Given the description of an element on the screen output the (x, y) to click on. 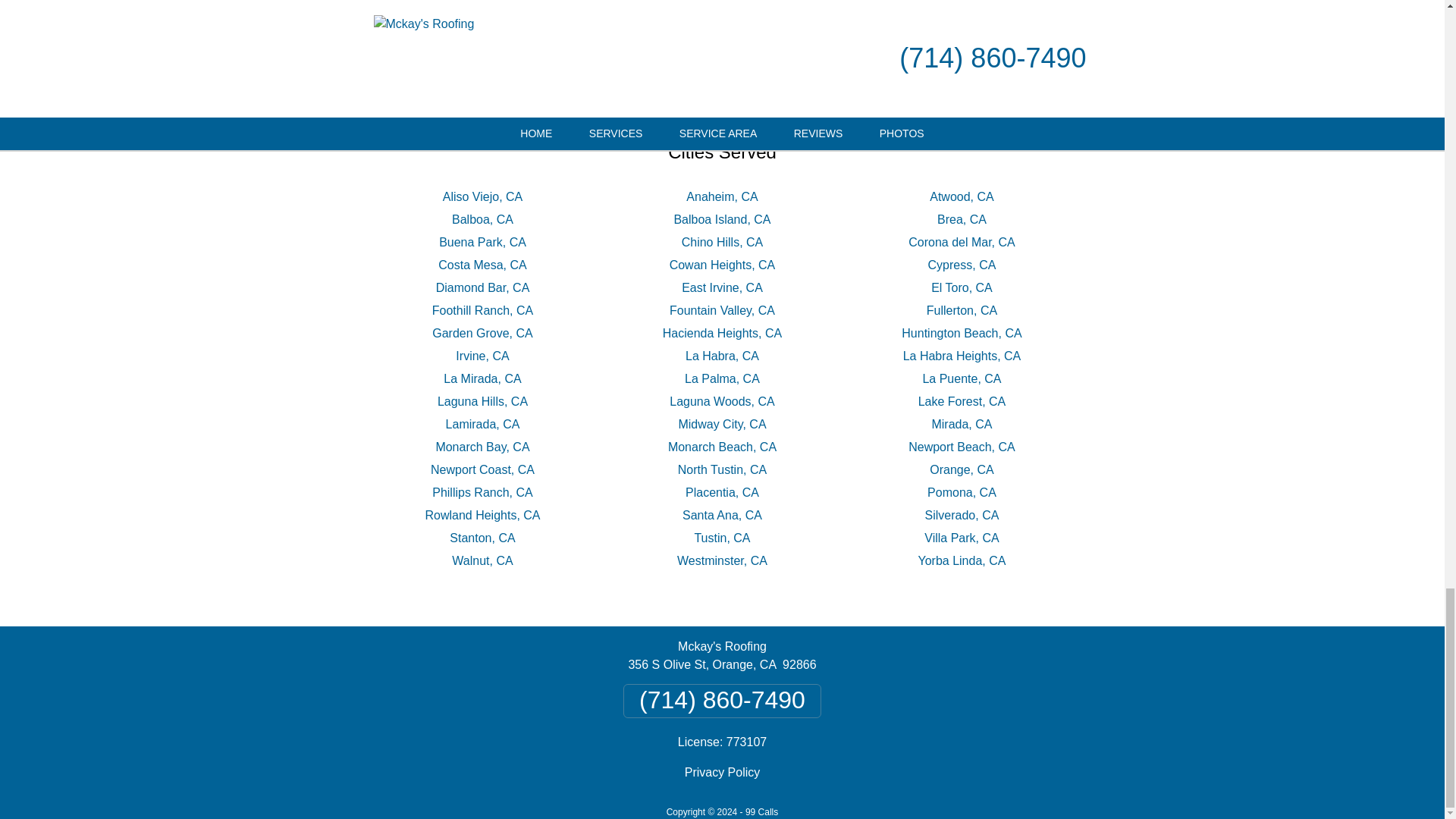
East Irvine, CA (721, 287)
Balboa Island, CA (721, 219)
Corona del Mar, CA (961, 241)
Costa Mesa, CA (481, 264)
Houzz (846, 57)
El Toro, CA (961, 287)
Cypress, CA (961, 264)
Google (702, 57)
Anaheim, CA (721, 196)
Balboa, CA (482, 219)
Yelp (776, 57)
Cowan Heights, CA (722, 264)
Facebook (610, 57)
Chino Hills, CA (721, 241)
Aliso Viejo, CA (482, 196)
